Given the description of an element on the screen output the (x, y) to click on. 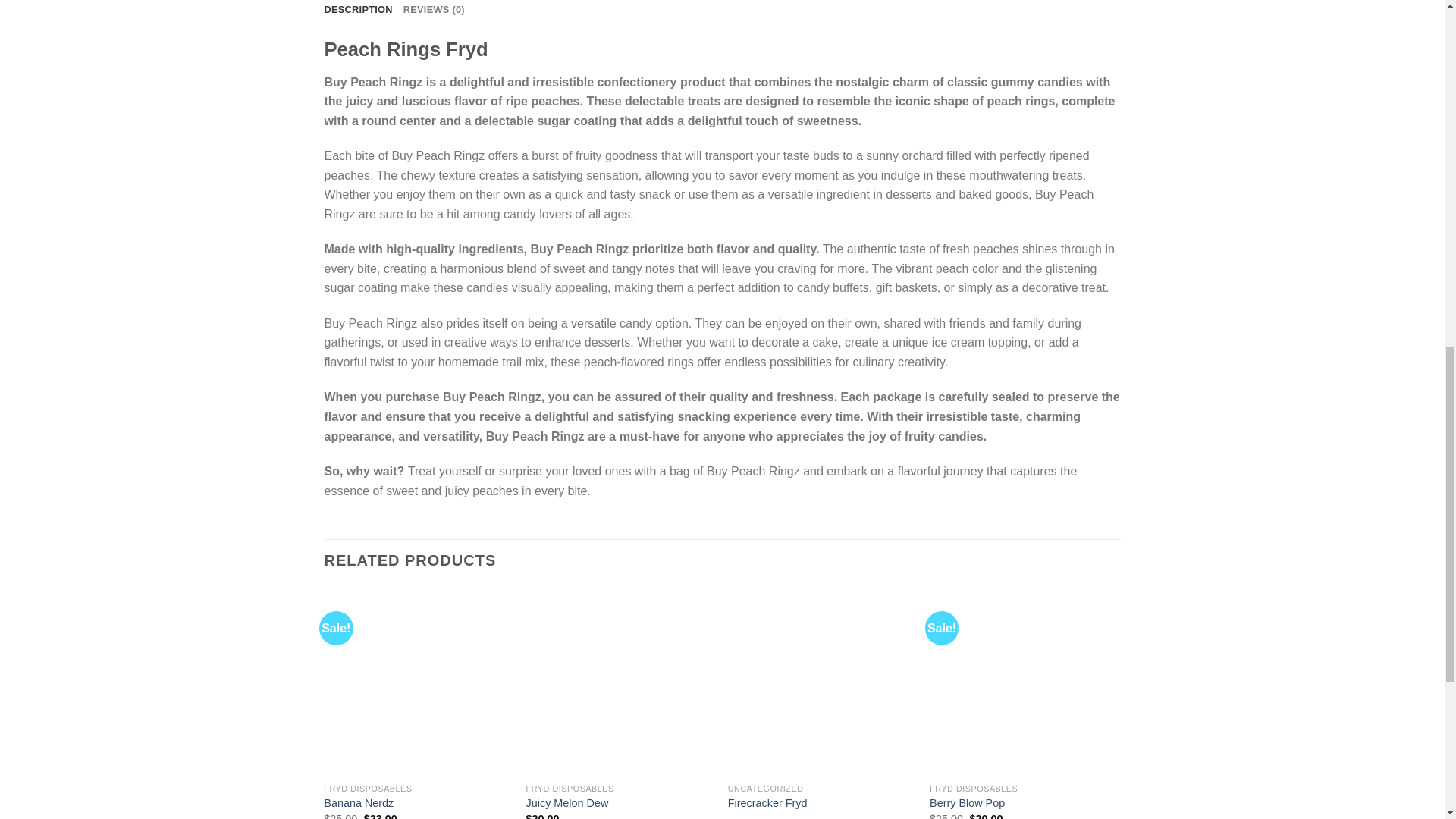
DESCRIPTION (358, 12)
